Given the description of an element on the screen output the (x, y) to click on. 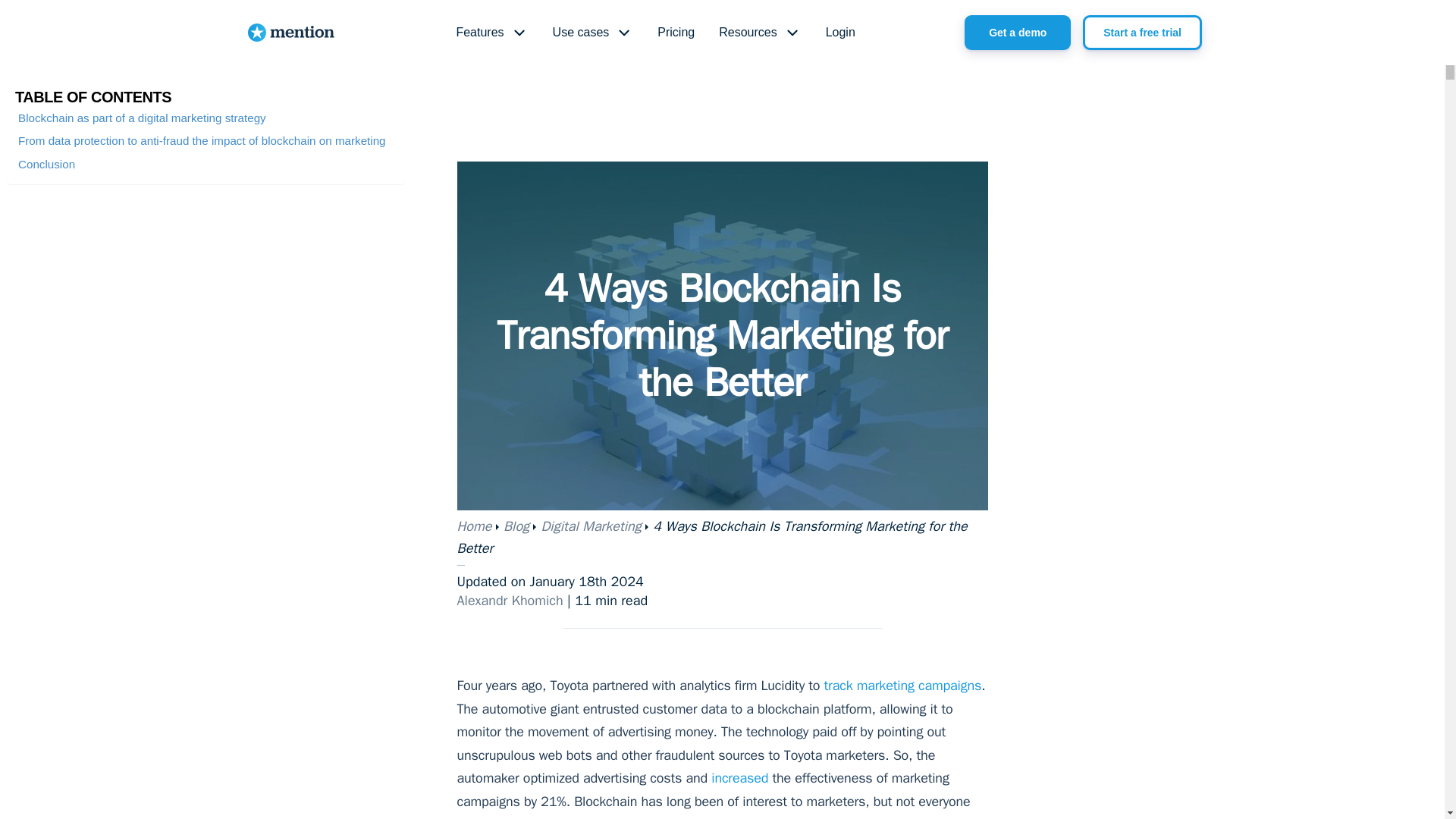
Pricing (675, 33)
Blockchain as part of a digital marketing strategy (141, 117)
Conclusion (46, 164)
